Given the description of an element on the screen output the (x, y) to click on. 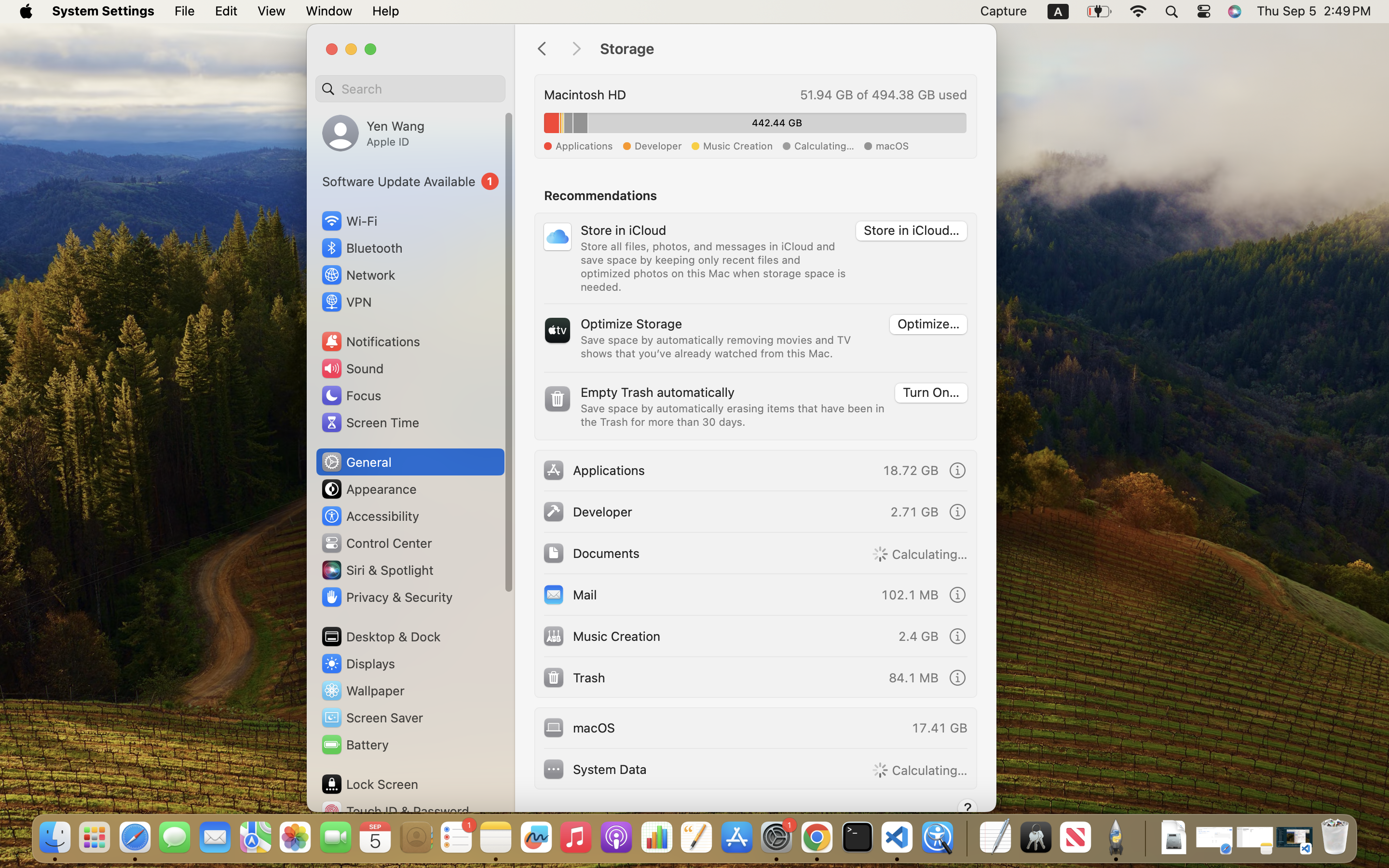
Control Center Element type: AXStaticText (376, 542)
Siri & Spotlight Element type: AXStaticText (376, 569)
macOS Element type: AXStaticText (578, 726)
Storage Element type: AXStaticText (788, 49)
Notifications Element type: AXStaticText (370, 340)
